Given the description of an element on the screen output the (x, y) to click on. 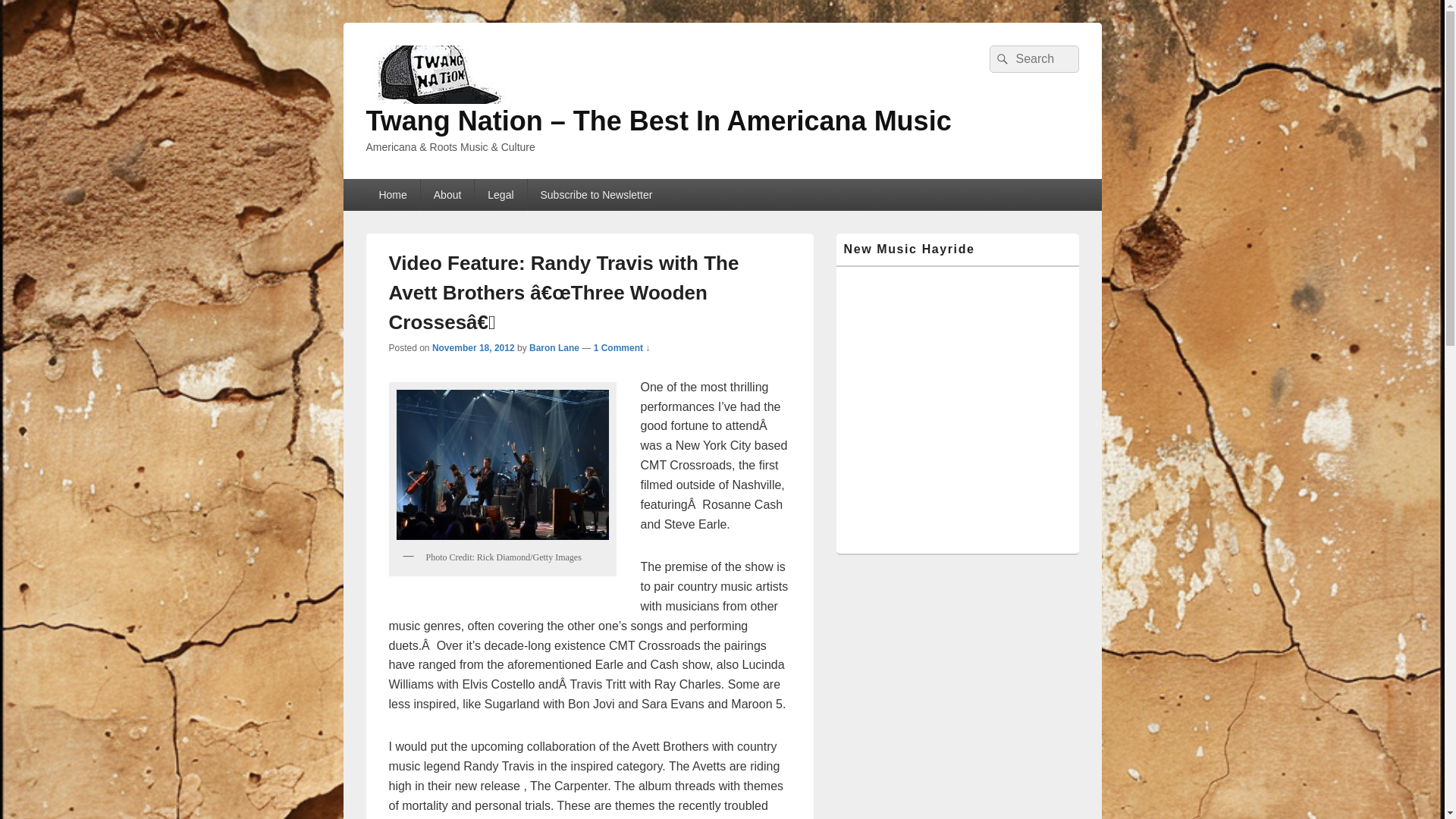
Home (392, 194)
About (447, 194)
November 18, 2012 (473, 347)
Baron Lane (554, 347)
9:10 pm (473, 347)
Search for: (1033, 58)
Legal (499, 194)
Subscribe to Newsletter (596, 194)
View all posts by Baron Lane (554, 347)
